Given the description of an element on the screen output the (x, y) to click on. 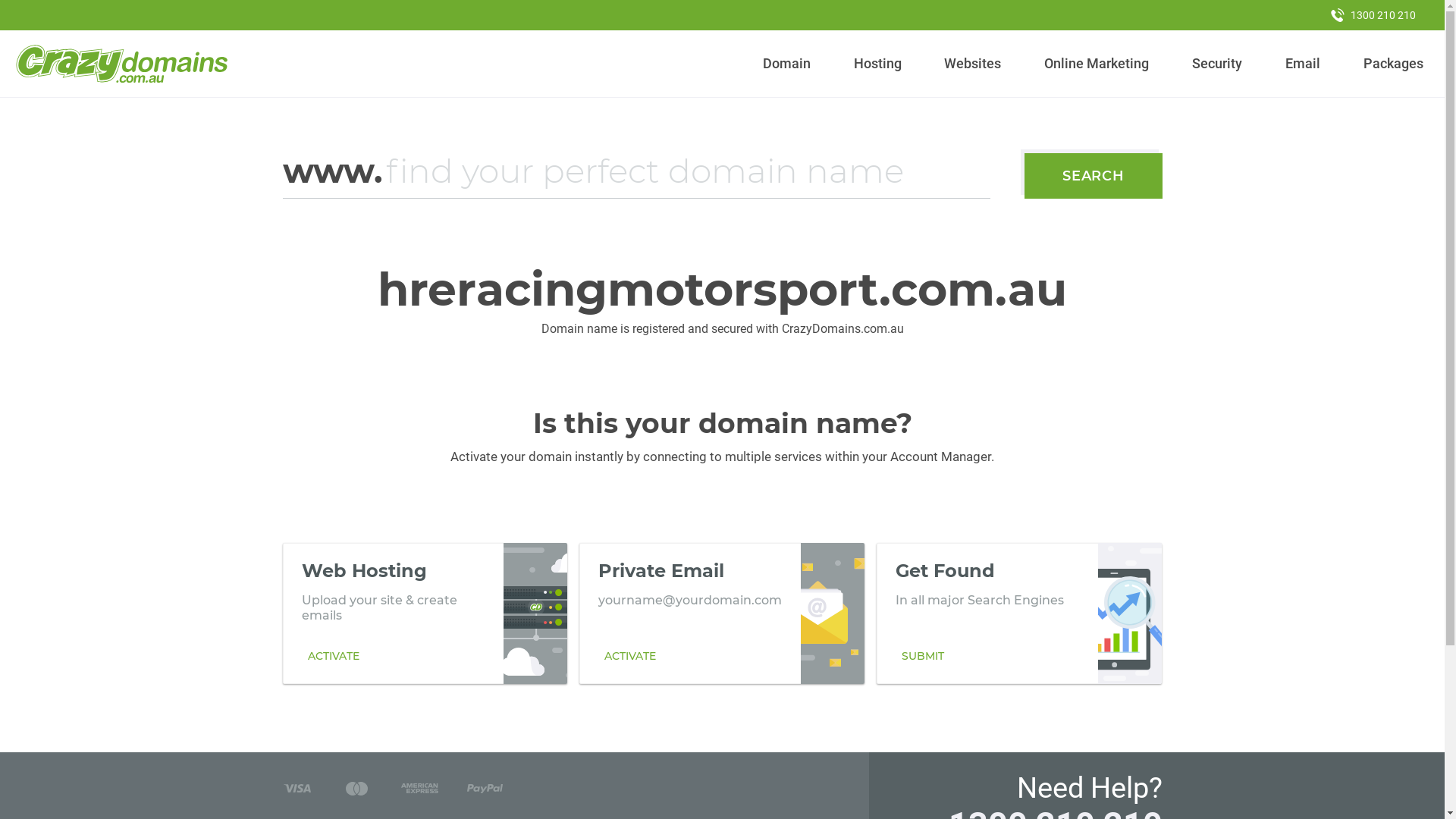
Hosting Element type: text (877, 63)
Security Element type: text (1217, 63)
SEARCH Element type: text (1092, 175)
Web Hosting
Upload your site & create emails
ACTIVATE Element type: text (424, 613)
Online Marketing Element type: text (1096, 63)
Domain Element type: text (786, 63)
Private Email
yourname@yourdomain.com
ACTIVATE Element type: text (721, 613)
1300 210 210 Element type: text (1373, 15)
Get Found
In all major Search Engines
SUBMIT Element type: text (1018, 613)
Websites Element type: text (972, 63)
Packages Element type: text (1392, 63)
Email Element type: text (1302, 63)
